Given the description of an element on the screen output the (x, y) to click on. 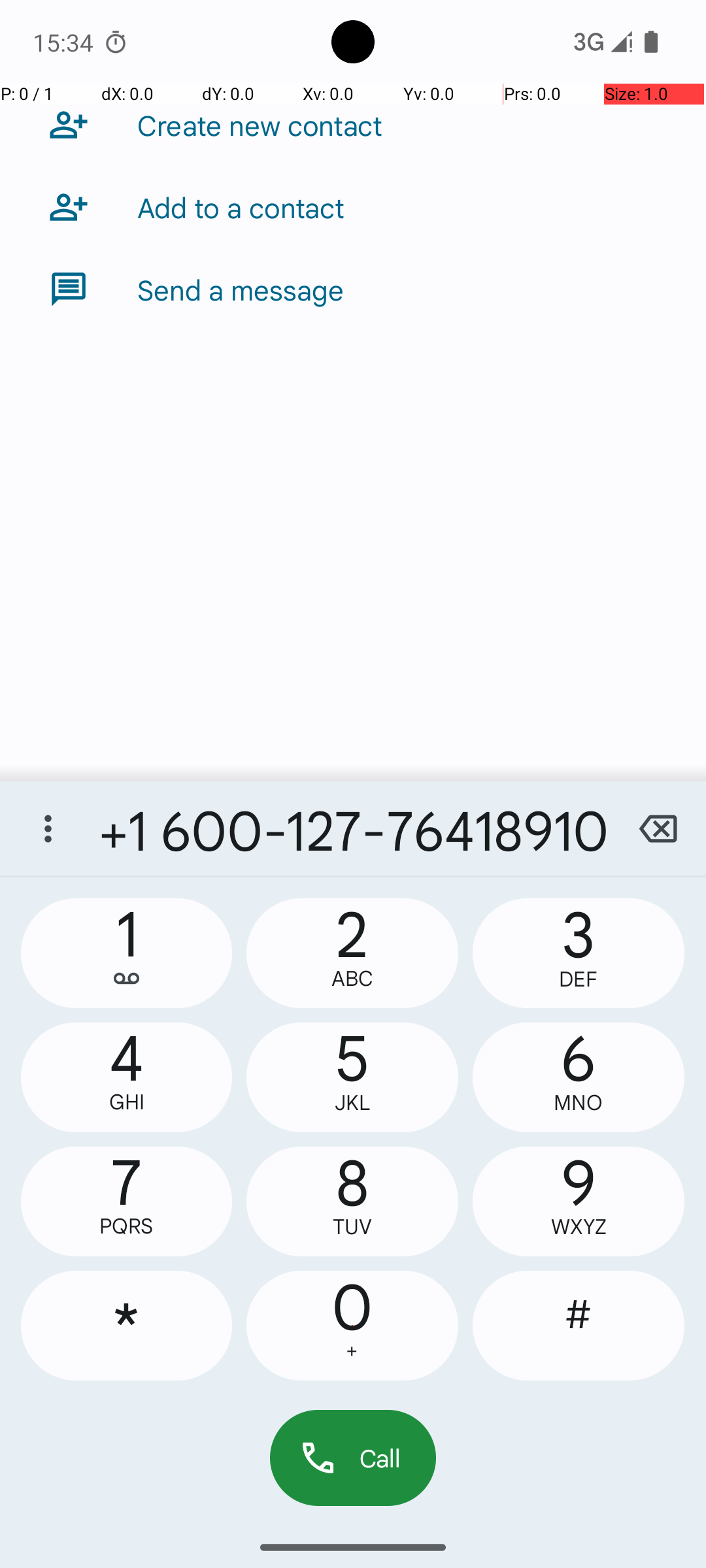
+1 600-127-76418910 Element type: android.widget.EditText (352, 828)
